Given the description of an element on the screen output the (x, y) to click on. 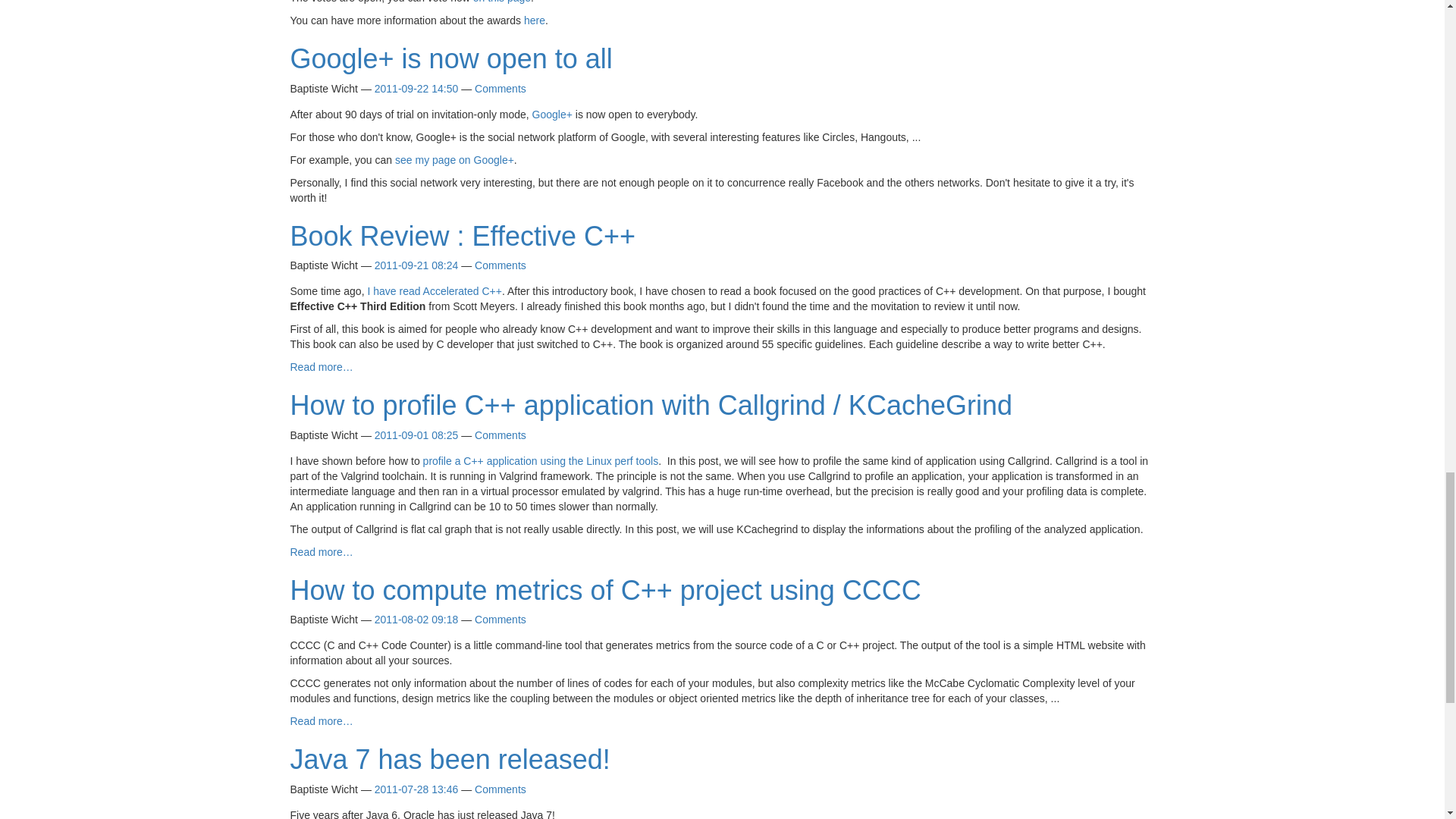
2011-09-21 08:24 (416, 265)
Information about the Awards (534, 20)
2011-08-02 09:18 (416, 619)
Vote for your project (502, 2)
here (534, 20)
on this page (502, 2)
Comments (499, 265)
2011-09-22 14:50 (416, 88)
2011-09-21 08:24 (416, 265)
2011-09-01 08:25 (416, 435)
Comments (499, 88)
2011-09-22 14:50 (416, 88)
